Given the description of an element on the screen output the (x, y) to click on. 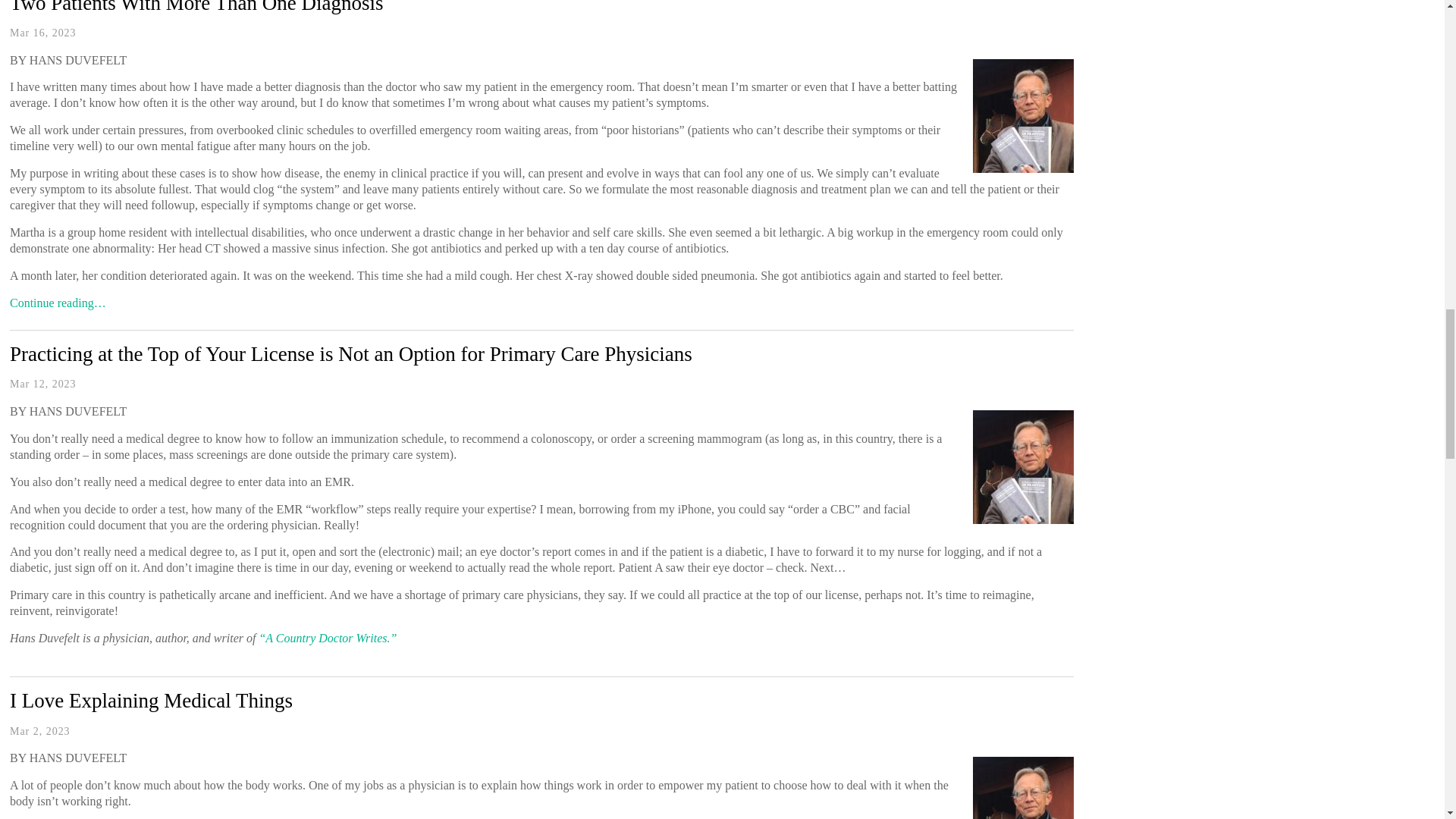
Two Patients With More Than One Diagnosis (196, 7)
I Love Explaining Medical Things (151, 700)
